Given the description of an element on the screen output the (x, y) to click on. 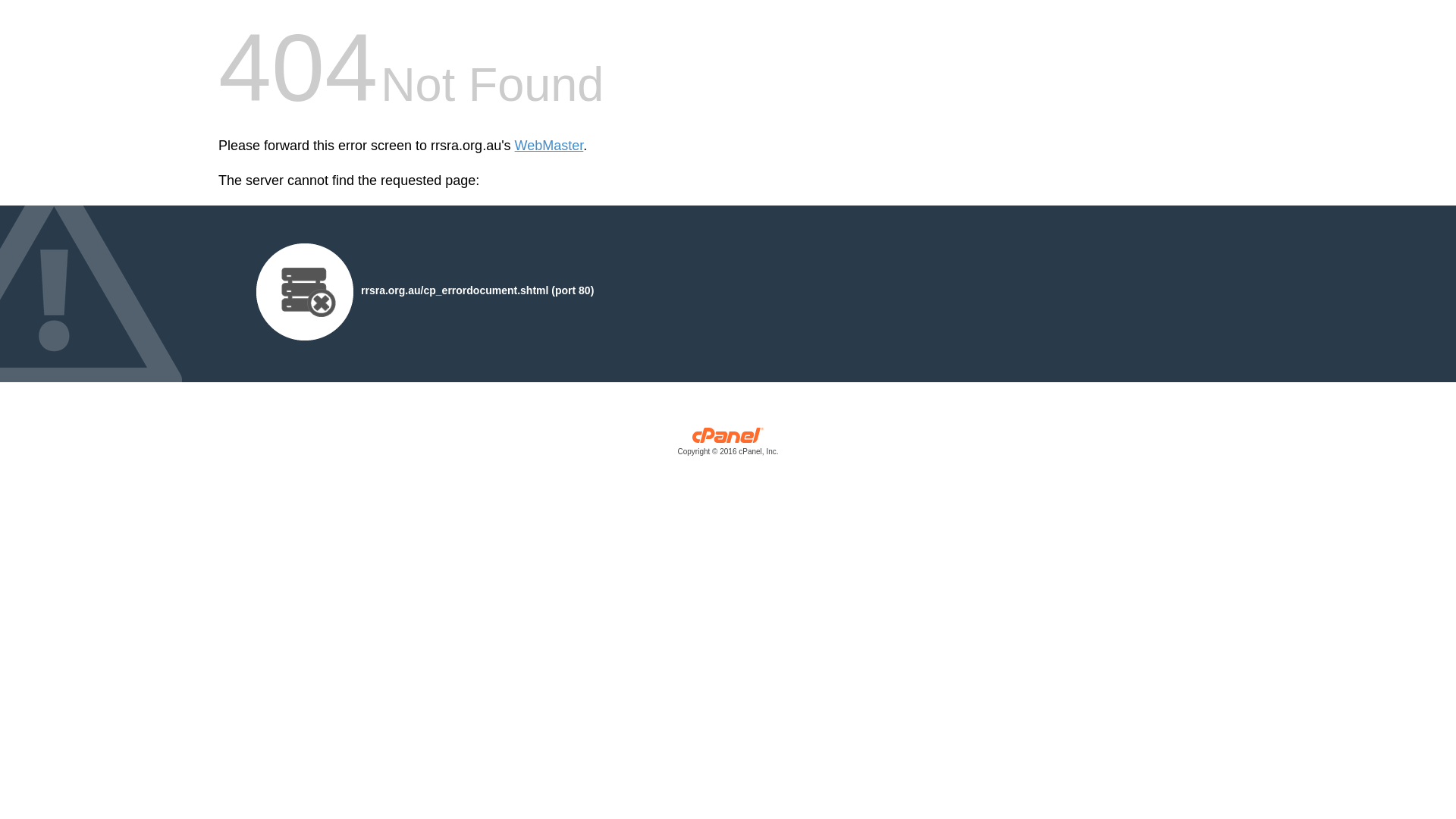
WebMaster Element type: text (548, 145)
